Given the description of an element on the screen output the (x, y) to click on. 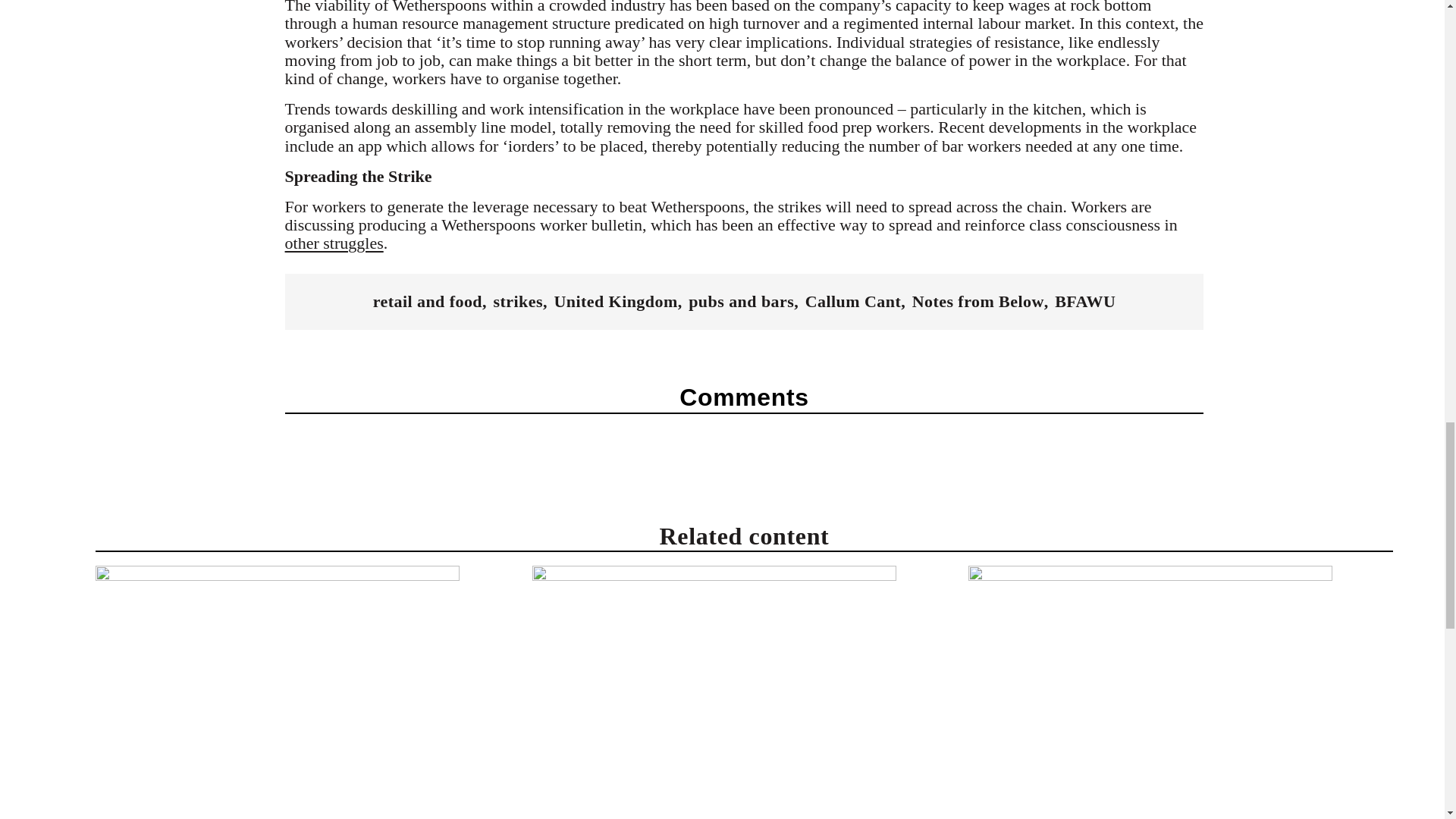
retail and food (426, 301)
Callum Cant (853, 301)
Notes from Below (977, 301)
United Kingdom (615, 301)
pubs and bars (740, 301)
other struggles (334, 242)
strikes (518, 301)
BFAWU (1084, 301)
